Given the description of an element on the screen output the (x, y) to click on. 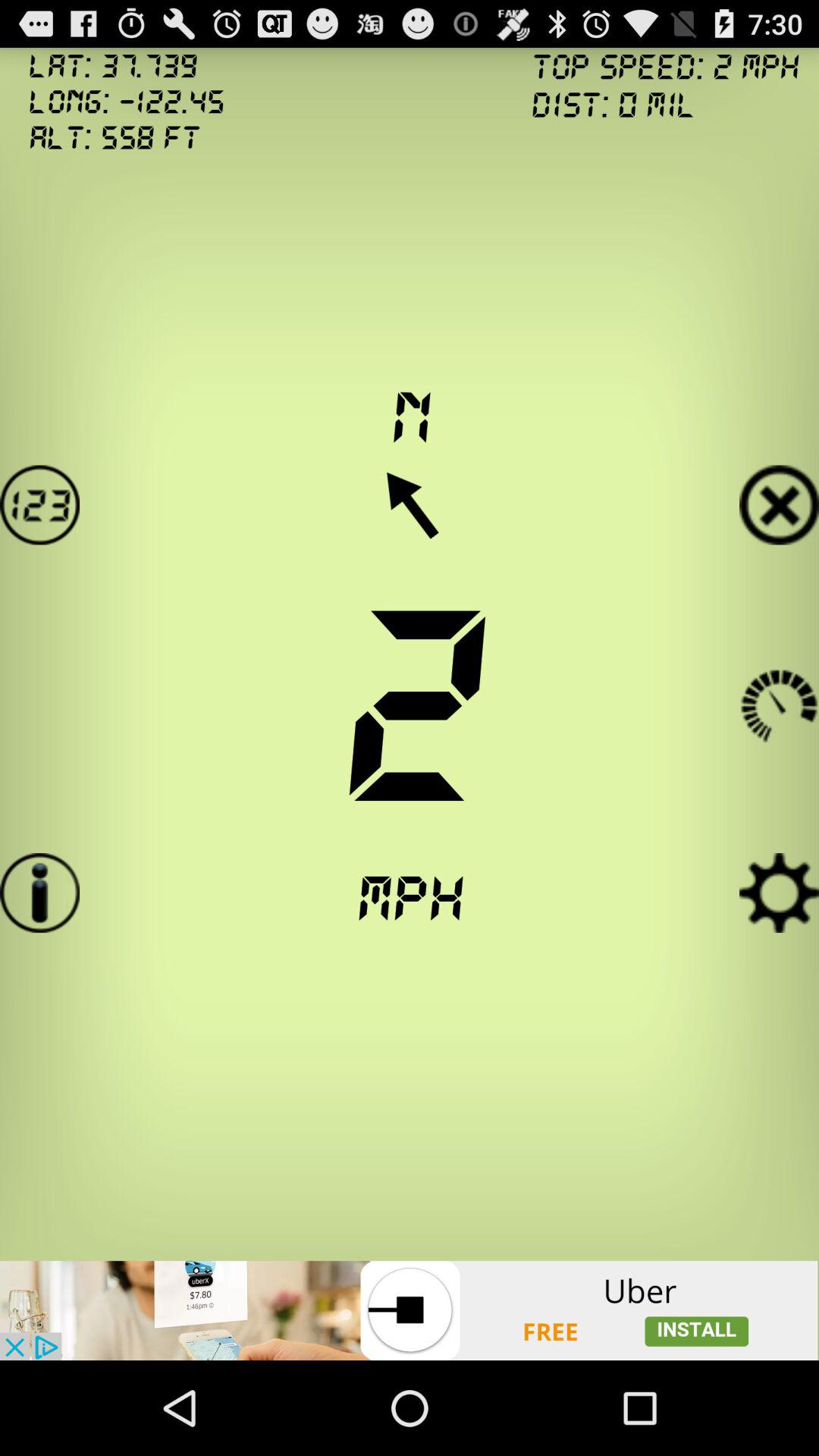
go to settings (779, 892)
